Given the description of an element on the screen output the (x, y) to click on. 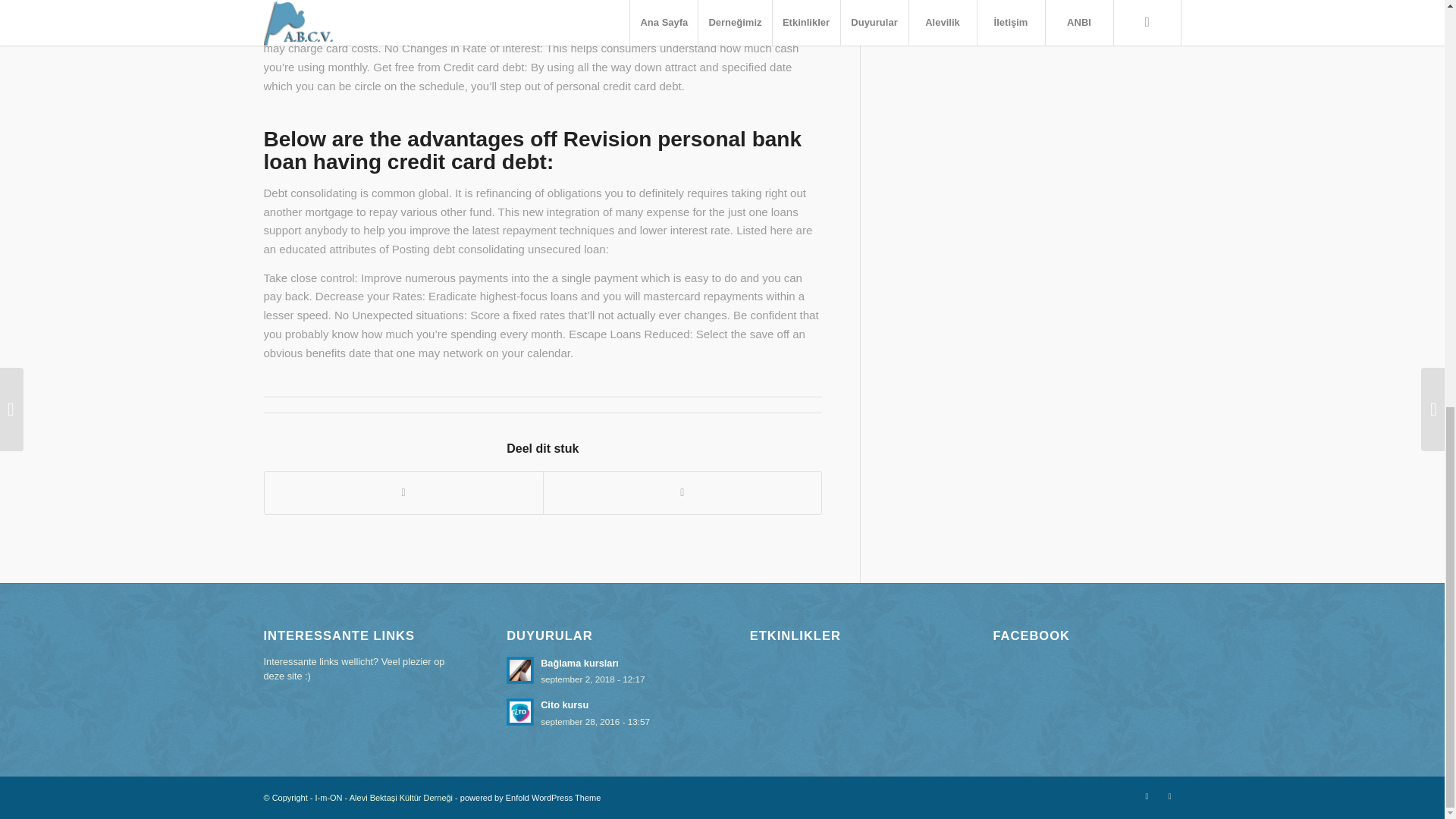
Cito kursu (600, 712)
Mail (600, 712)
Facebook (1169, 795)
powered by Enfold WordPress Theme (1146, 795)
